Given the description of an element on the screen output the (x, y) to click on. 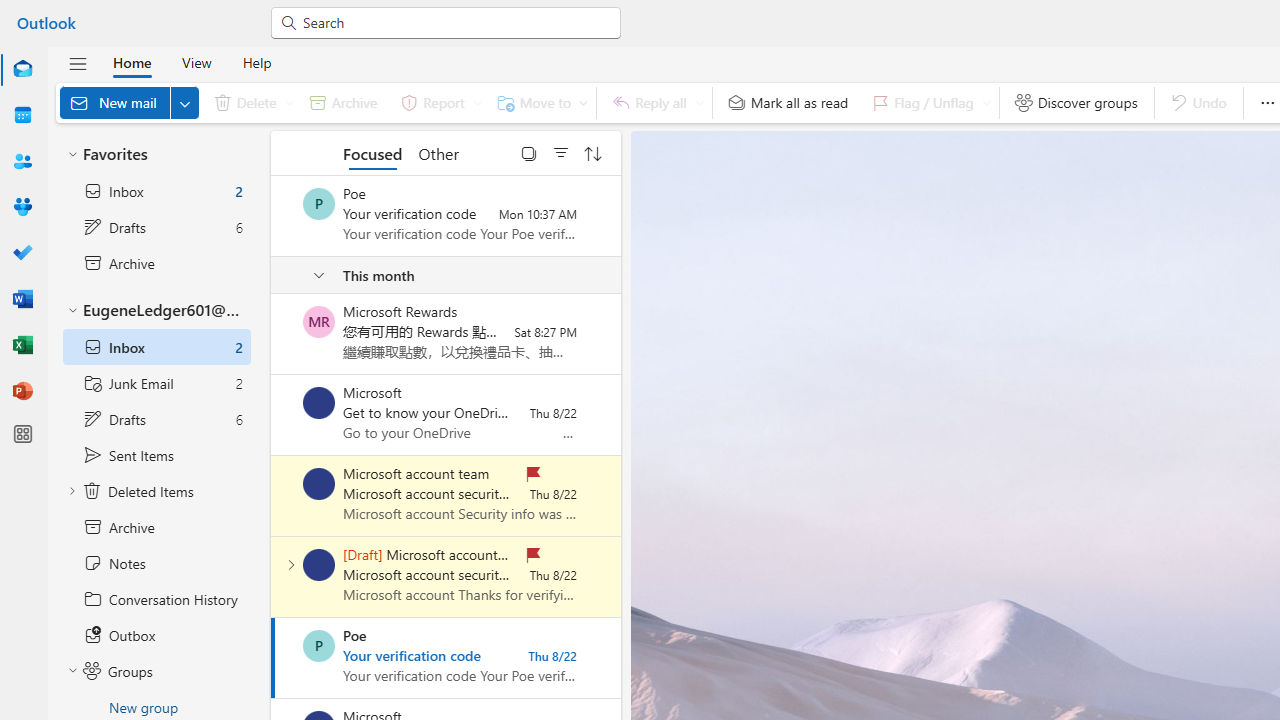
Microsoft Rewards (319, 321)
Microsoft (319, 403)
Word (22, 299)
Archive (343, 102)
Move to (538, 102)
Poe (319, 645)
New mail (129, 102)
Mark all as read (788, 102)
Hide navigation pane (77, 63)
Select (529, 152)
Reply all (654, 102)
Expand to see flag options (985, 102)
People (22, 161)
